Given the description of an element on the screen output the (x, y) to click on. 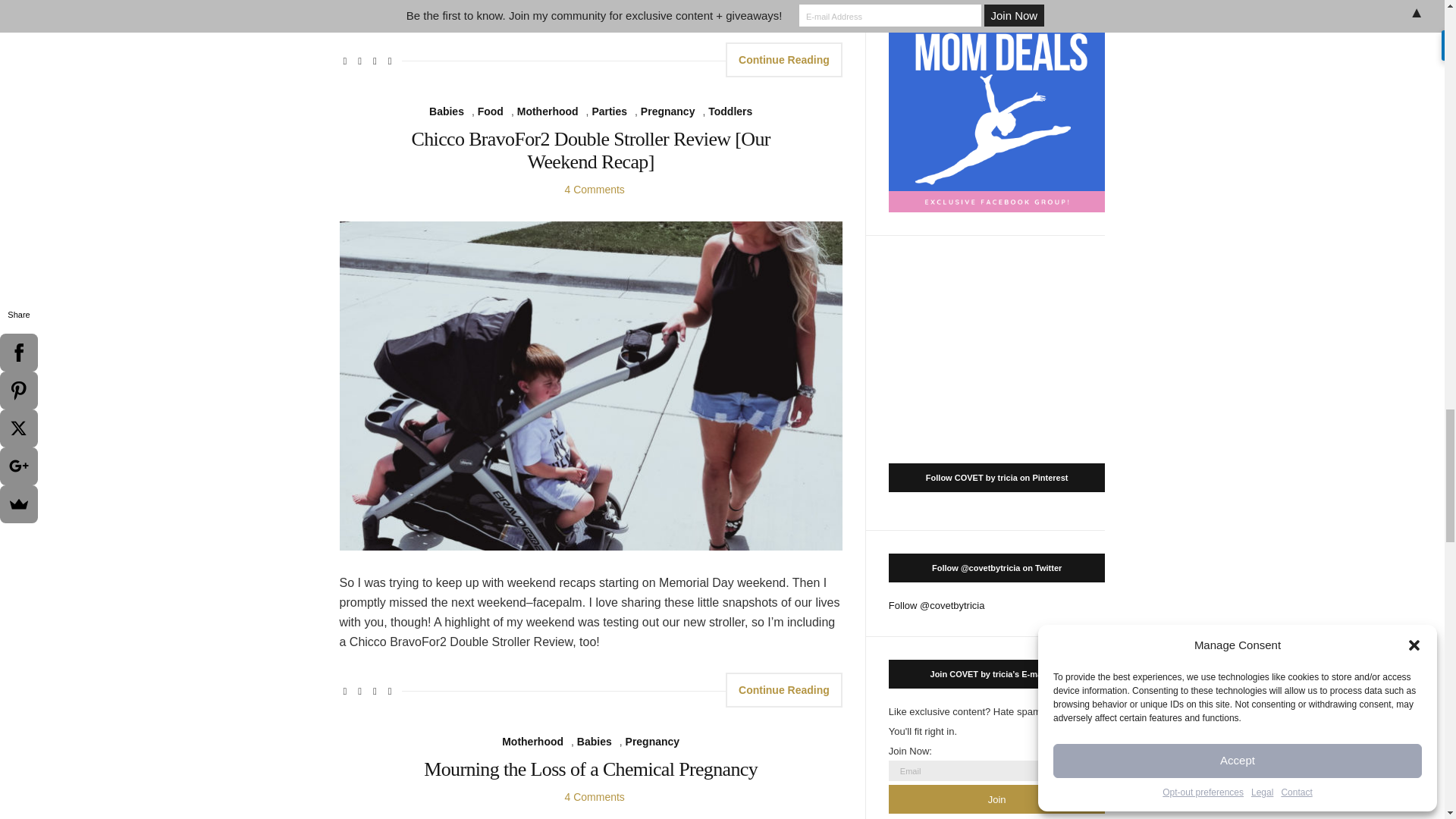
Join (996, 799)
